Given the description of an element on the screen output the (x, y) to click on. 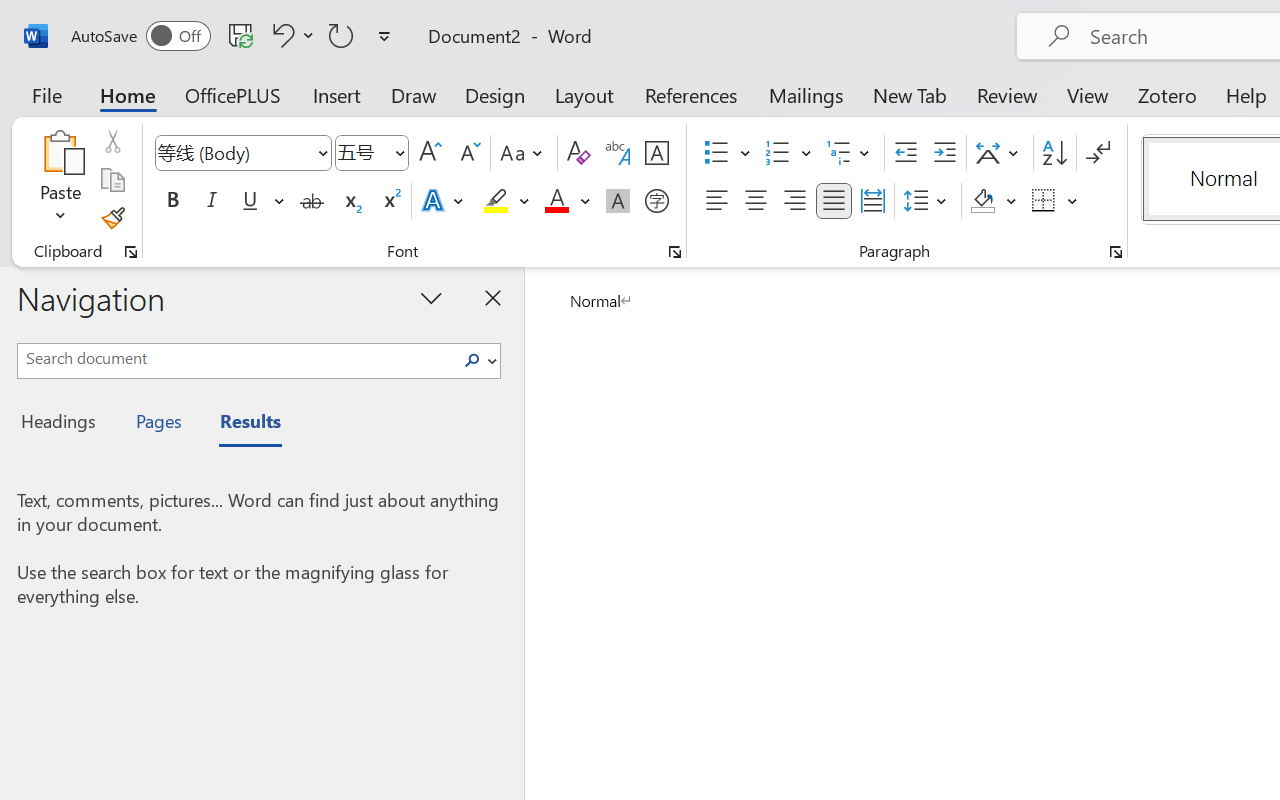
Save (241, 35)
Paragraph... (1115, 252)
Text Effects and Typography (444, 201)
Strikethrough (312, 201)
Show/Hide Editing Marks (1098, 153)
AutoSave (140, 35)
Align Right (794, 201)
Clear Formatting (578, 153)
Cut (112, 141)
Italic (212, 201)
Font Color (567, 201)
Undo Apply Quick Style (280, 35)
